Given the description of an element on the screen output the (x, y) to click on. 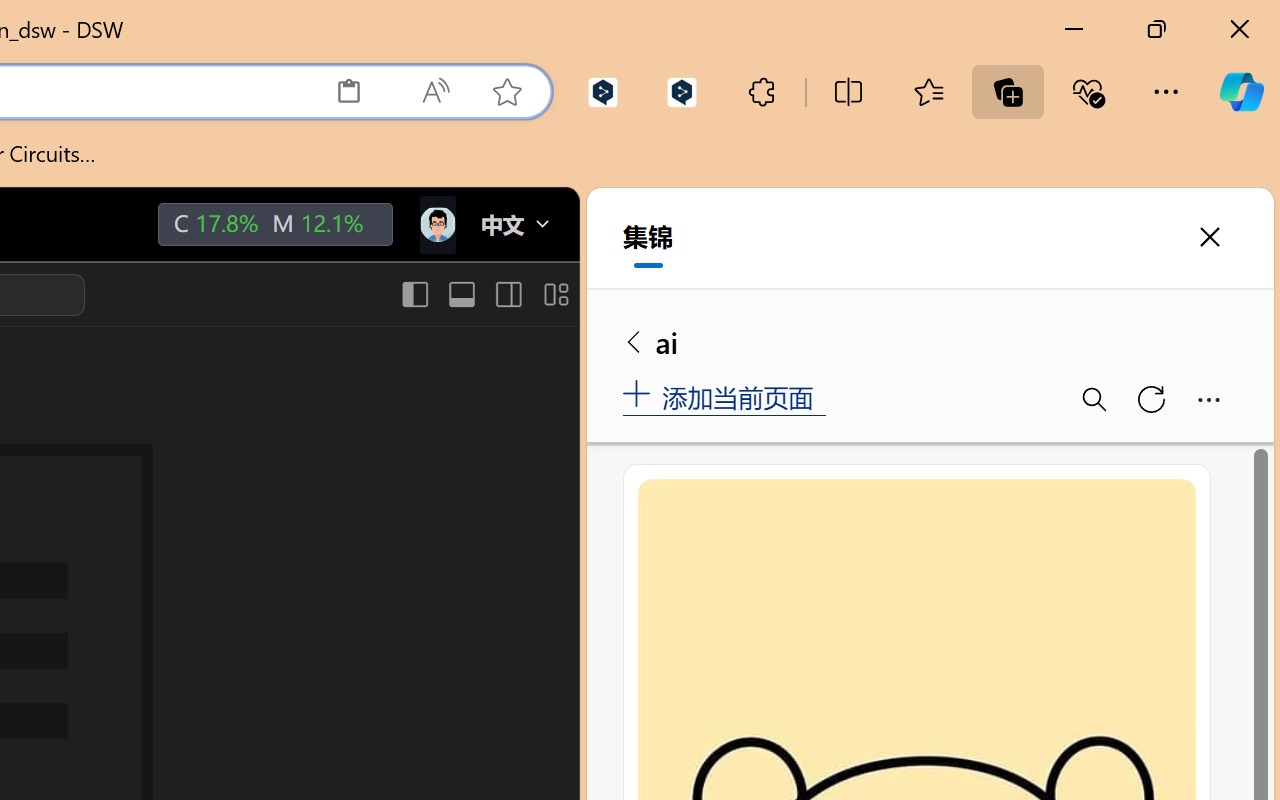
Czech (detected) (1037, 250)
Czech (991, 455)
Swap "from" and "to" languages. (1065, 426)
